Given the description of an element on the screen output the (x, y) to click on. 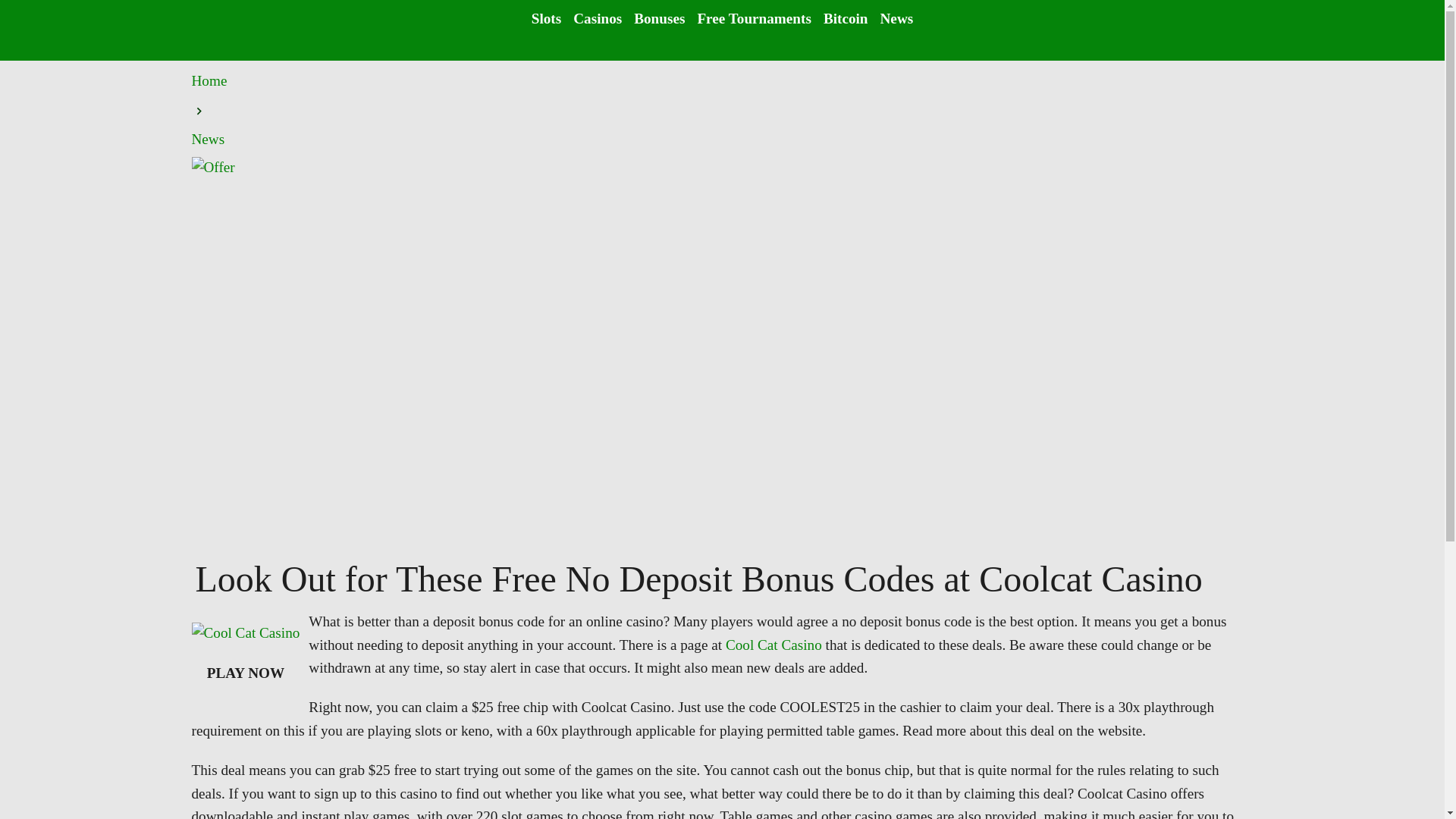
Free Tournaments (753, 18)
PLAY NOW (245, 673)
News (207, 139)
Bonuses (658, 18)
Bitcoin (845, 18)
Cool Cat Casino (773, 644)
Casinos (597, 18)
News (897, 18)
Slots (546, 18)
Home (208, 80)
